Given the description of an element on the screen output the (x, y) to click on. 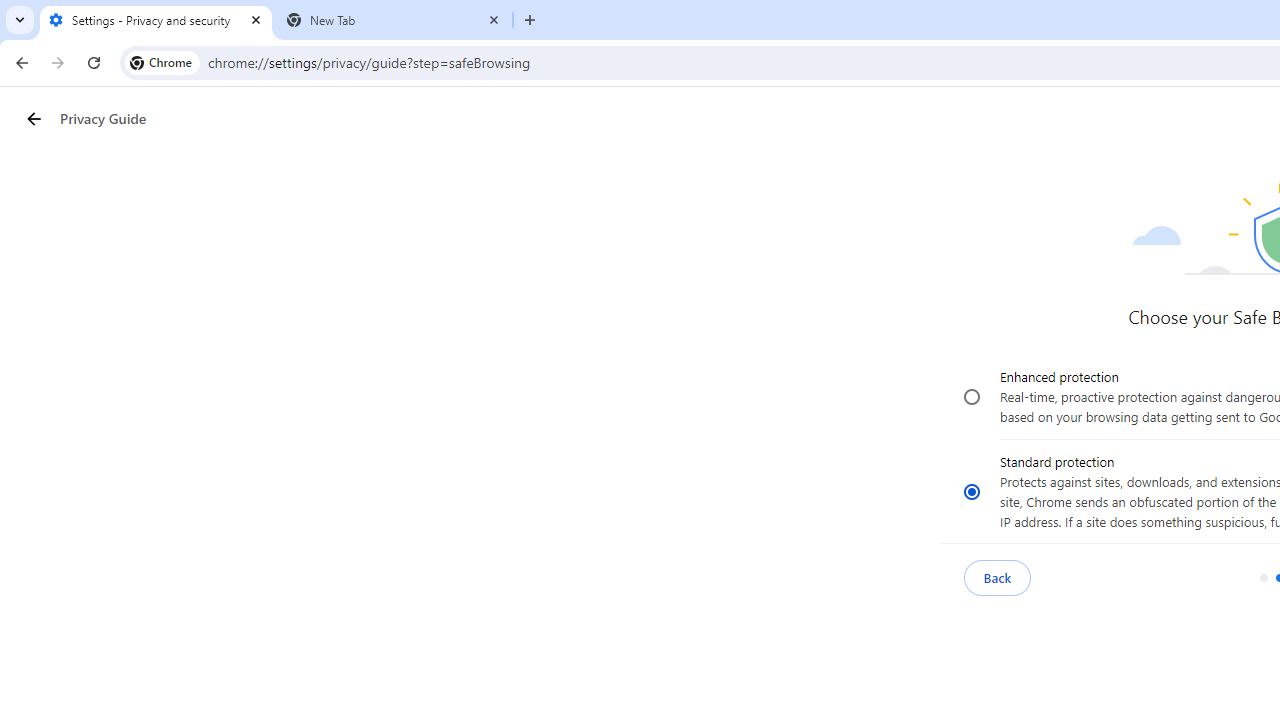
Settings - Privacy and security (156, 20)
New Tab (394, 20)
Privacy Guide back button (33, 118)
Enhanced protection (971, 397)
Standard protection (971, 491)
